Given the description of an element on the screen output the (x, y) to click on. 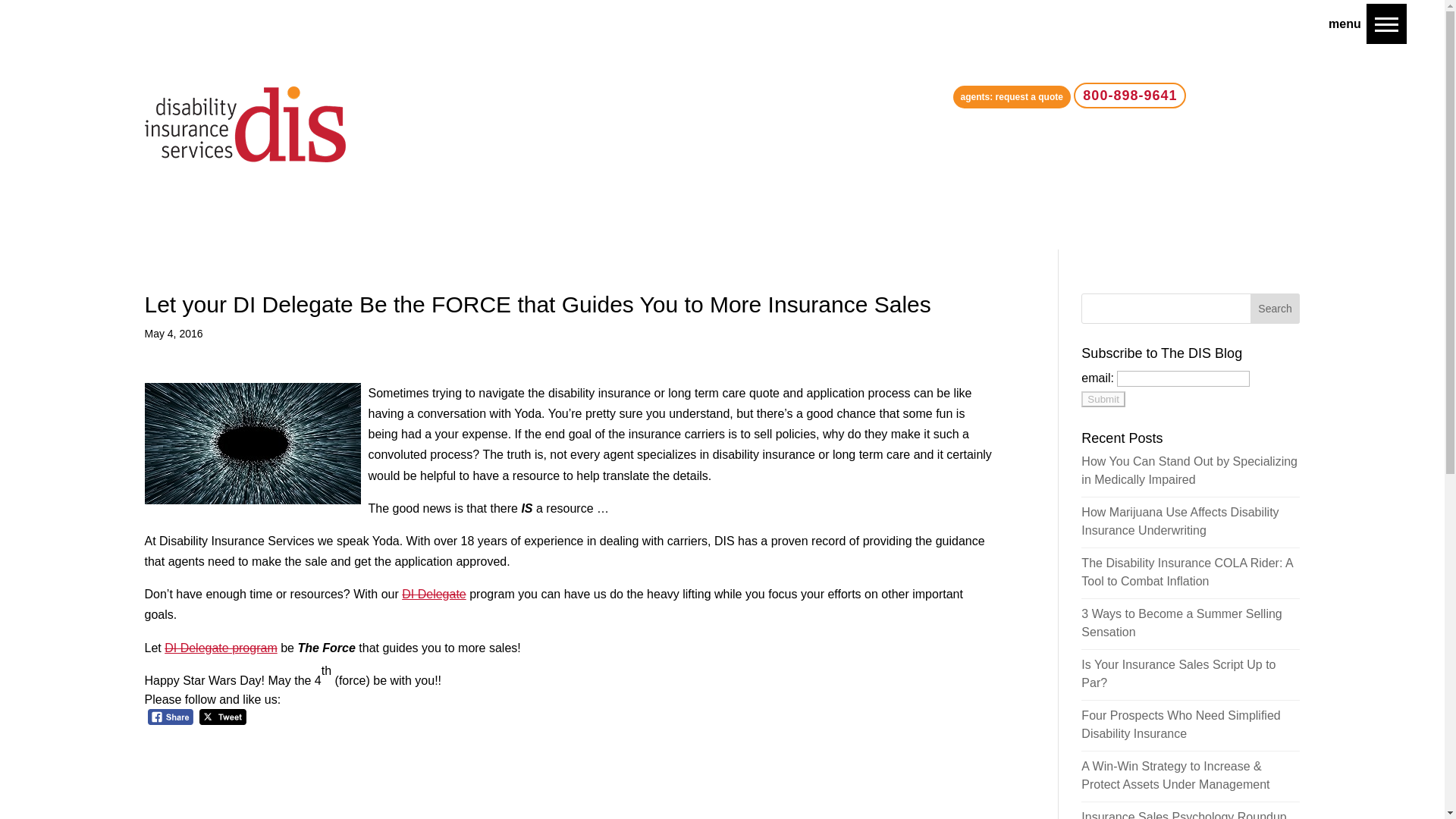
di-delegate (251, 443)
Submit (1102, 399)
Four Prospects Who Need Simplified Disability Insurance (1180, 724)
page-logo (244, 124)
Search (1275, 308)
Submit (1102, 399)
Tweet (222, 716)
3 Ways to Become a Summer Selling Sensation (1181, 622)
Search (1275, 308)
DI Delegate (433, 594)
Facebook Share (170, 716)
How You Can Stand Out by Specializing in Medically Impaired (1189, 470)
agents: request a quote (1011, 96)
Is Your Insurance Sales Script Up to Par? (1178, 673)
